Given the description of an element on the screen output the (x, y) to click on. 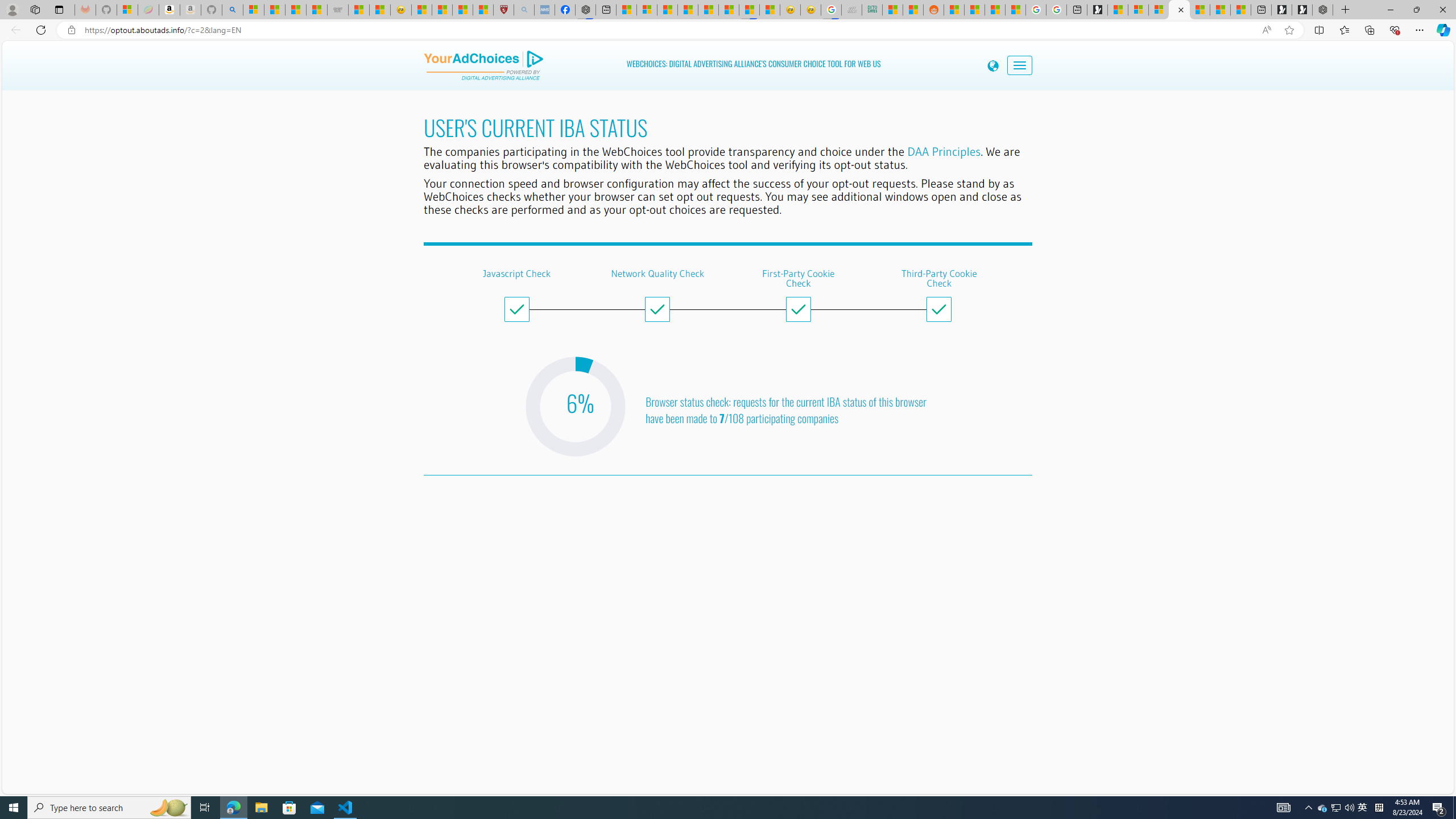
14 Common Myths Debunked By Scientific Facts (708, 9)
MSNBC - MSN (892, 9)
DITOGAMES AG Imprint (871, 9)
Navy Quest (851, 9)
